Given the description of an element on the screen output the (x, y) to click on. 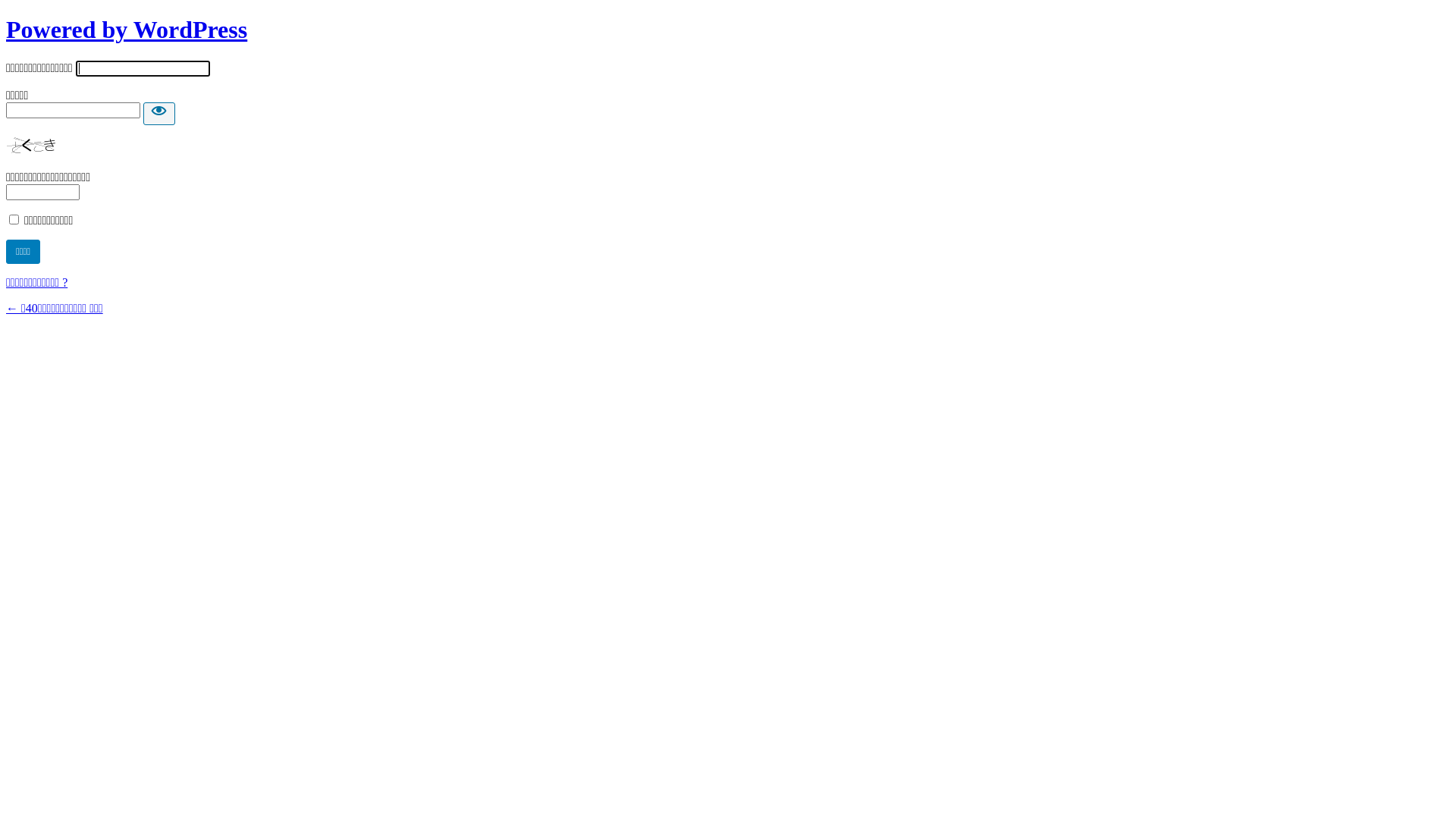
Powered by WordPress Element type: text (126, 29)
